Given the description of an element on the screen output the (x, y) to click on. 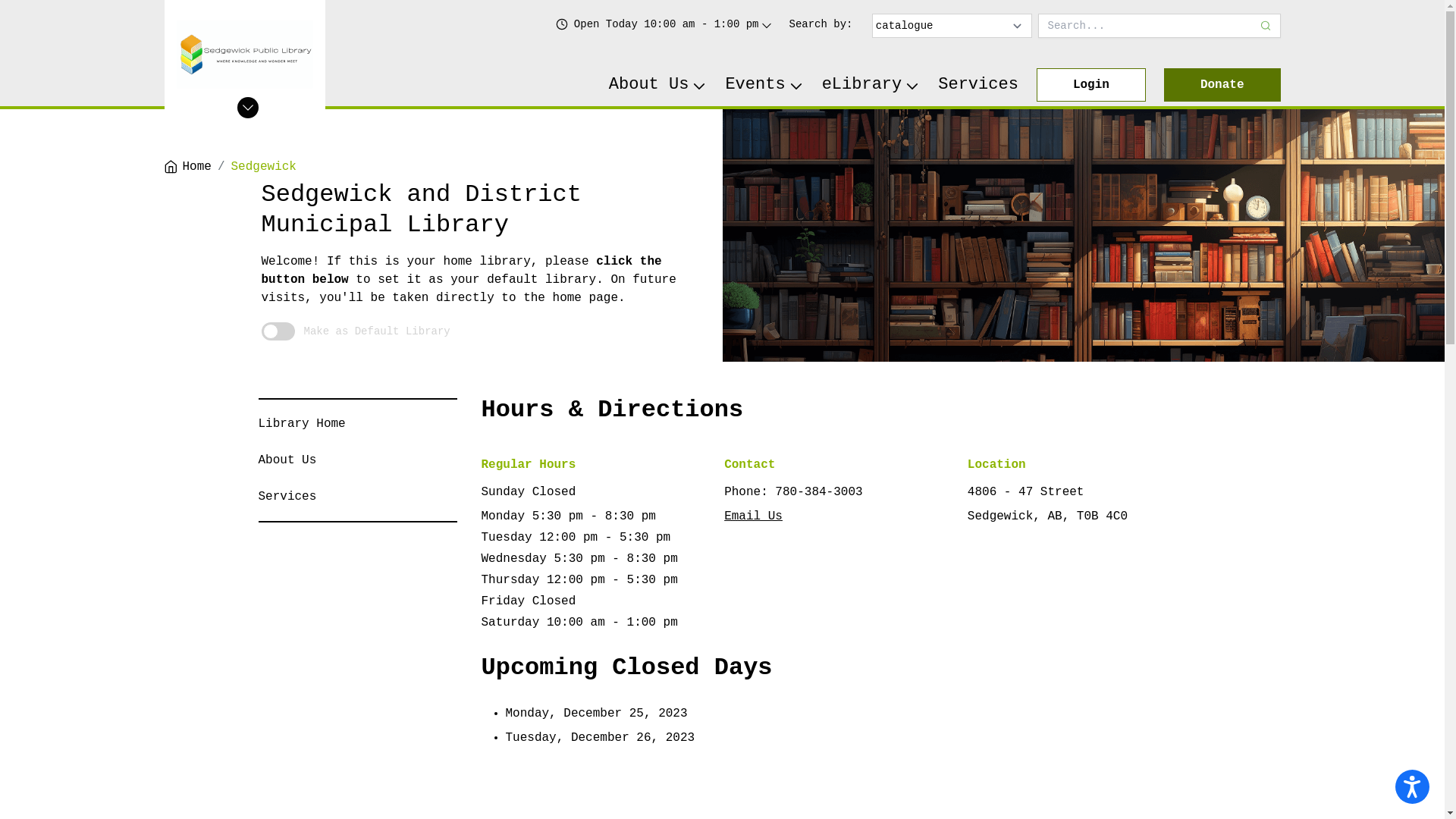
Library Home Element type: text (301, 423)
Login Element type: text (1090, 84)
About Us Element type: text (657, 84)
eLibrary Element type: text (871, 84)
Donate Element type: text (1222, 84)
Home Element type: text (186, 166)
Events Element type: text (763, 84)
Services Element type: text (978, 84)
Services Element type: text (286, 496)
Sedgewick Element type: text (263, 166)
About Us Element type: text (286, 460)
Email Us Element type: text (753, 516)
